Given the description of an element on the screen output the (x, y) to click on. 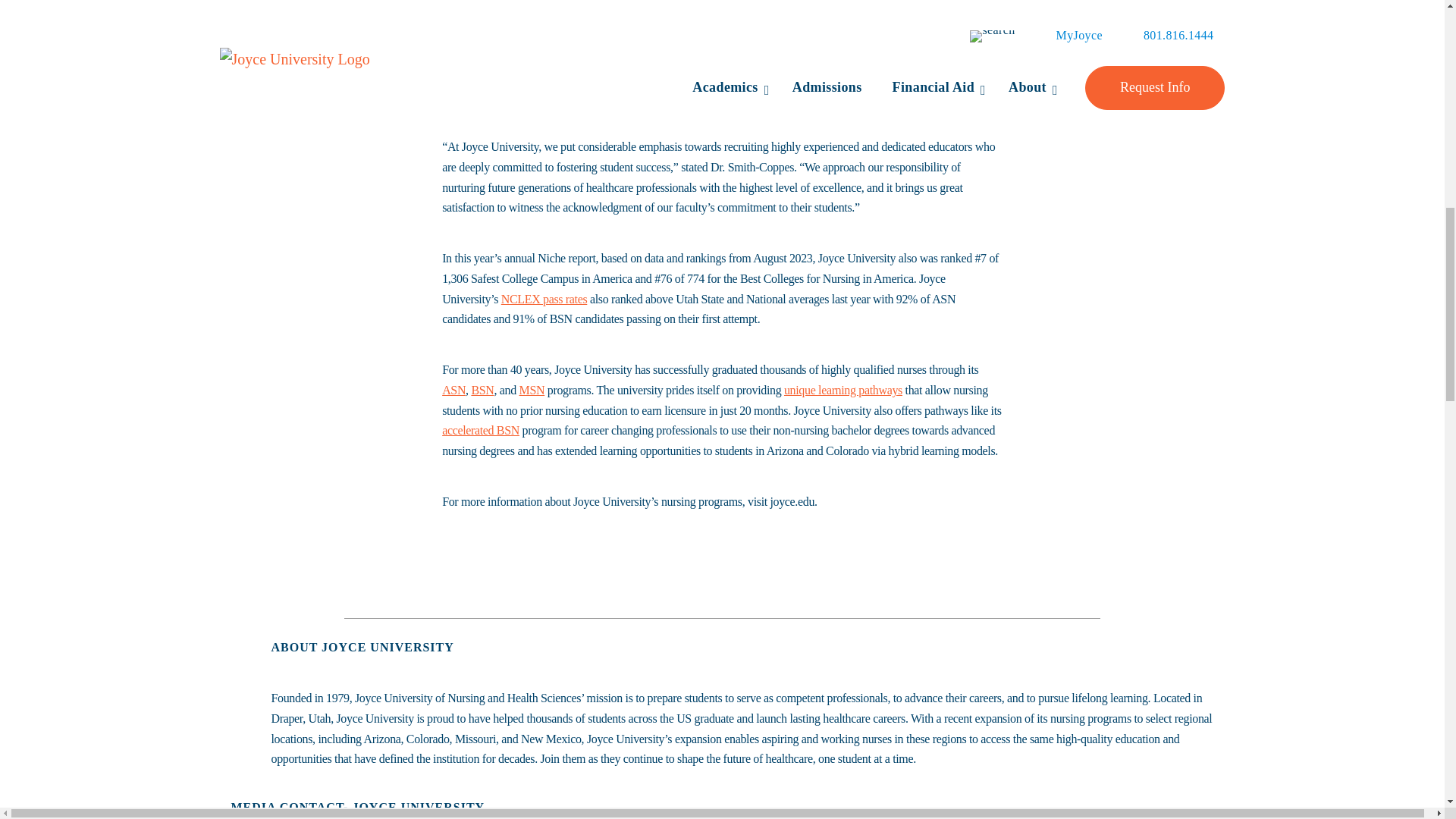
Based on student polls conducted by Niche (541, 55)
ASN (453, 390)
NCLEX pass rates (544, 298)
BSN (481, 390)
